Given the description of an element on the screen output the (x, y) to click on. 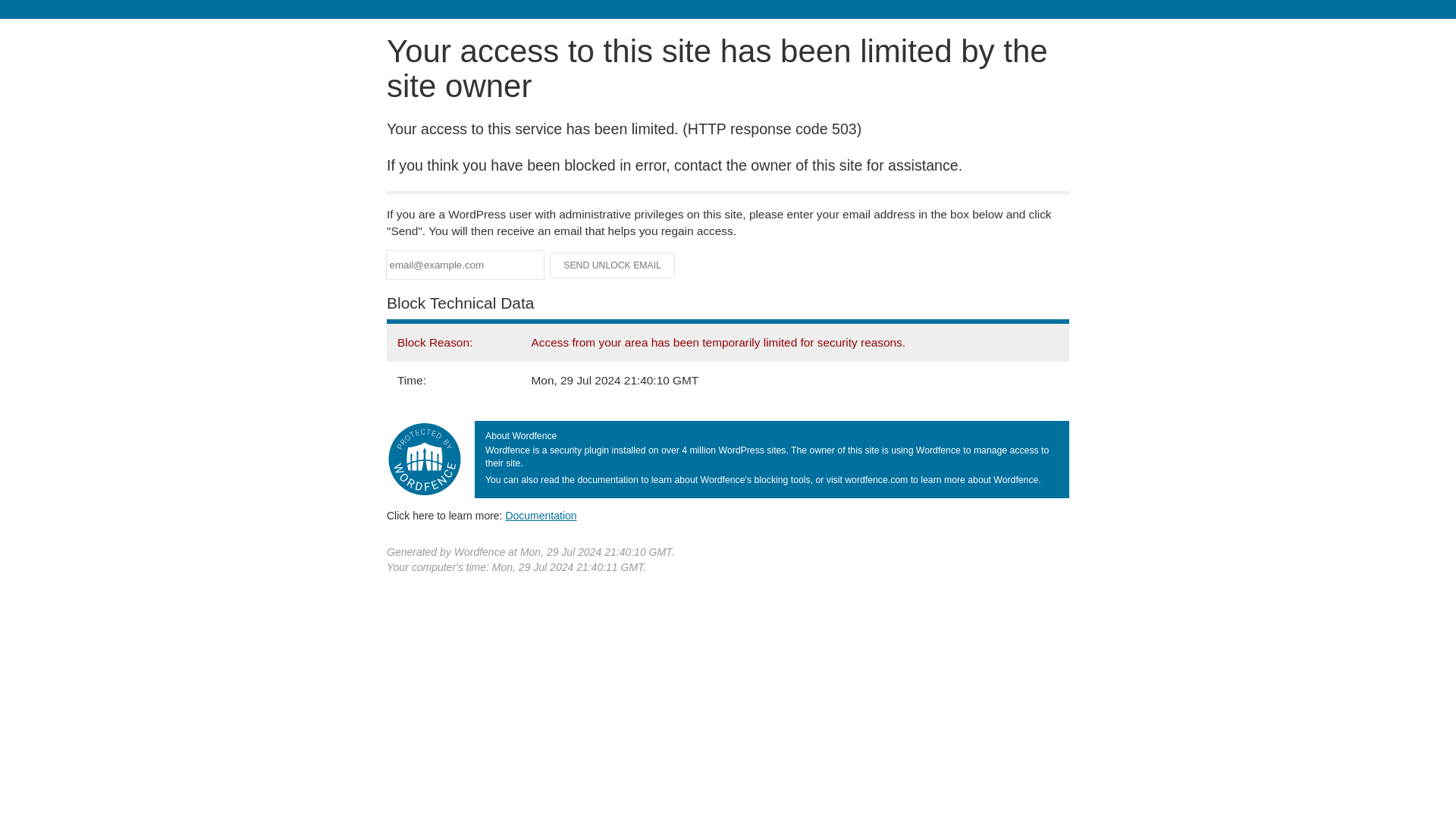
Send Unlock Email (612, 265)
Send Unlock Email (612, 265)
Documentation (540, 515)
